Given the description of an element on the screen output the (x, y) to click on. 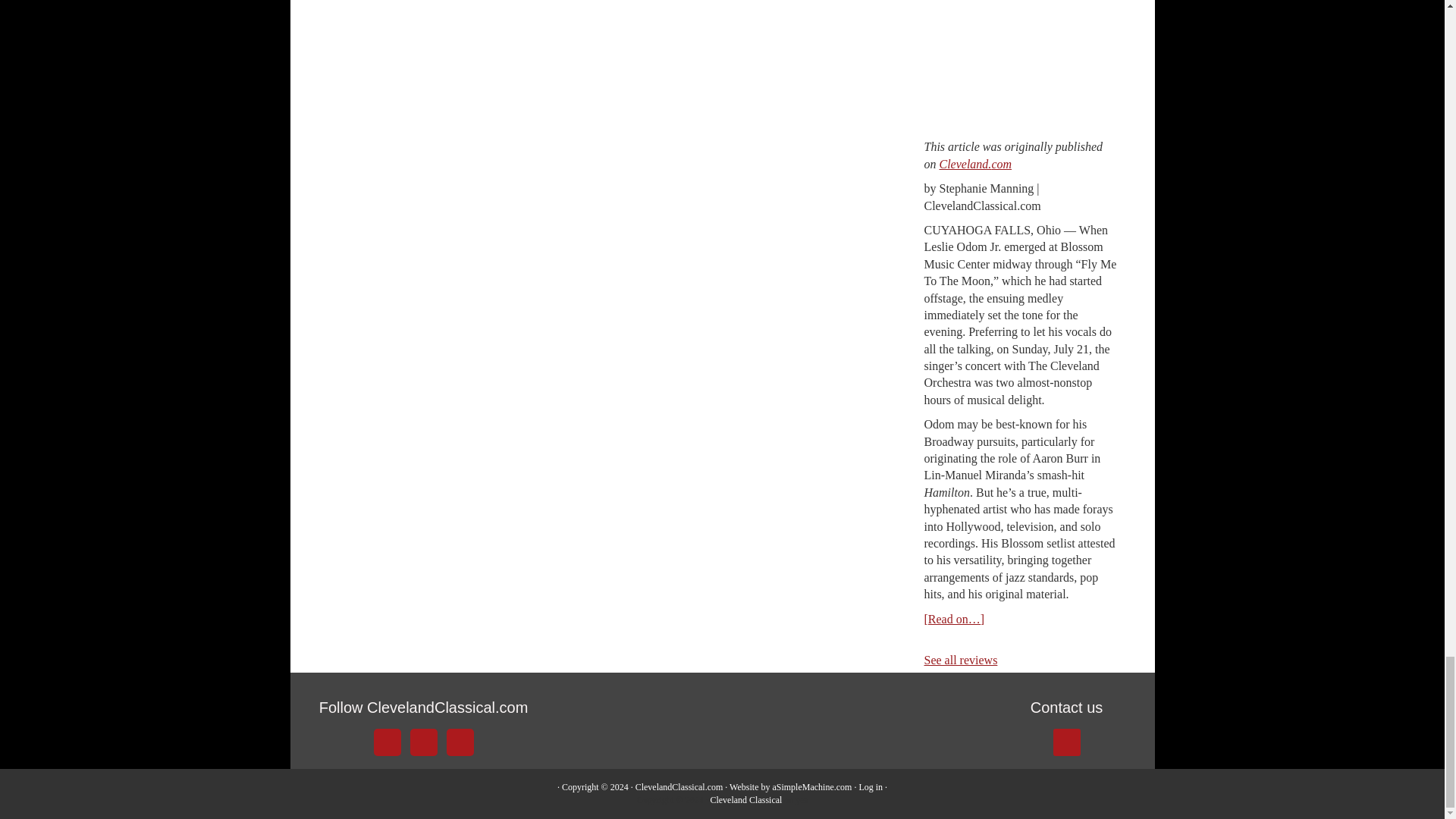
Reviews (960, 659)
